Given the description of an element on the screen output the (x, y) to click on. 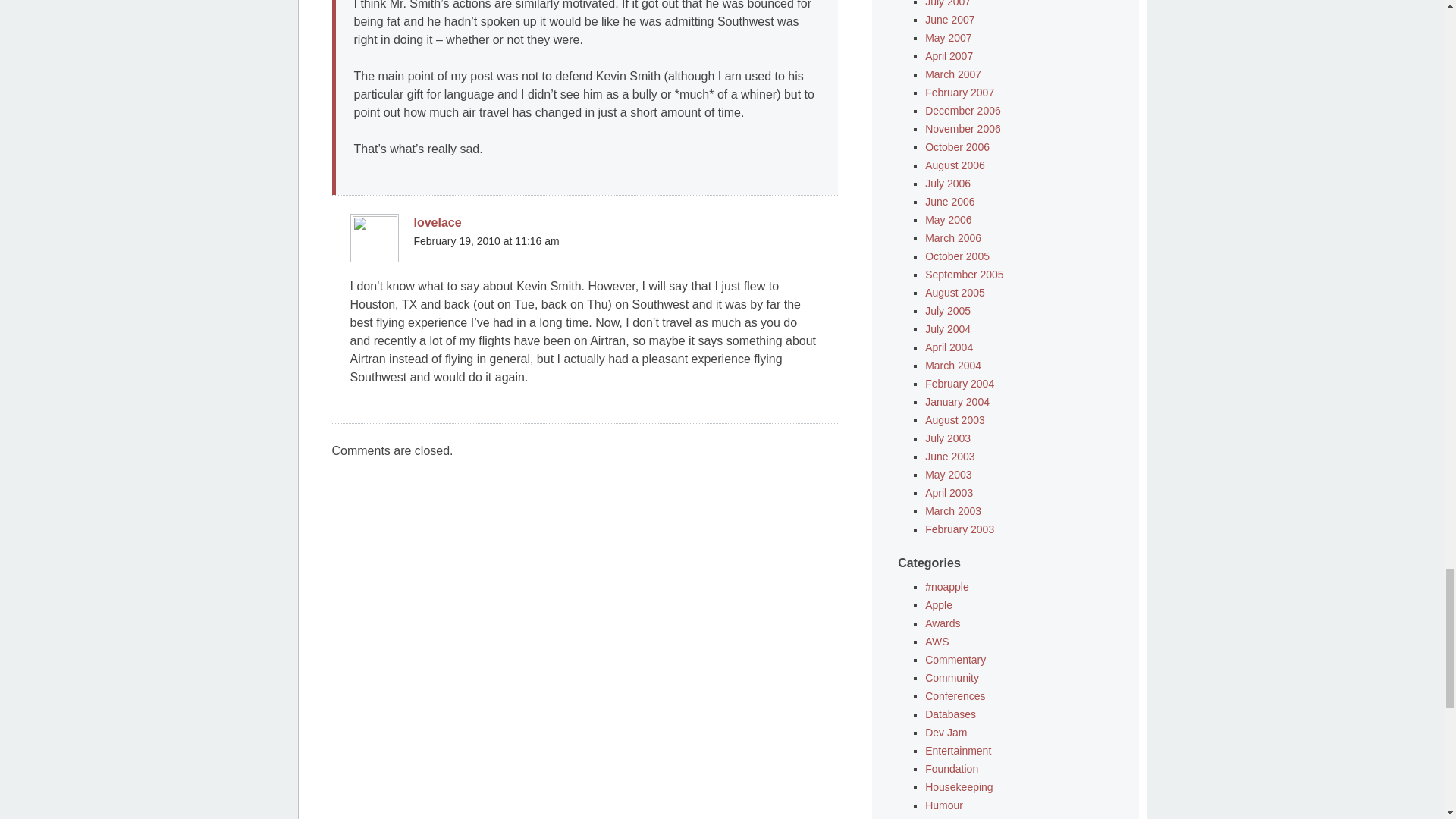
lovelace (437, 222)
February 19, 2010 at 11:16 am (486, 241)
